Given the description of an element on the screen output the (x, y) to click on. 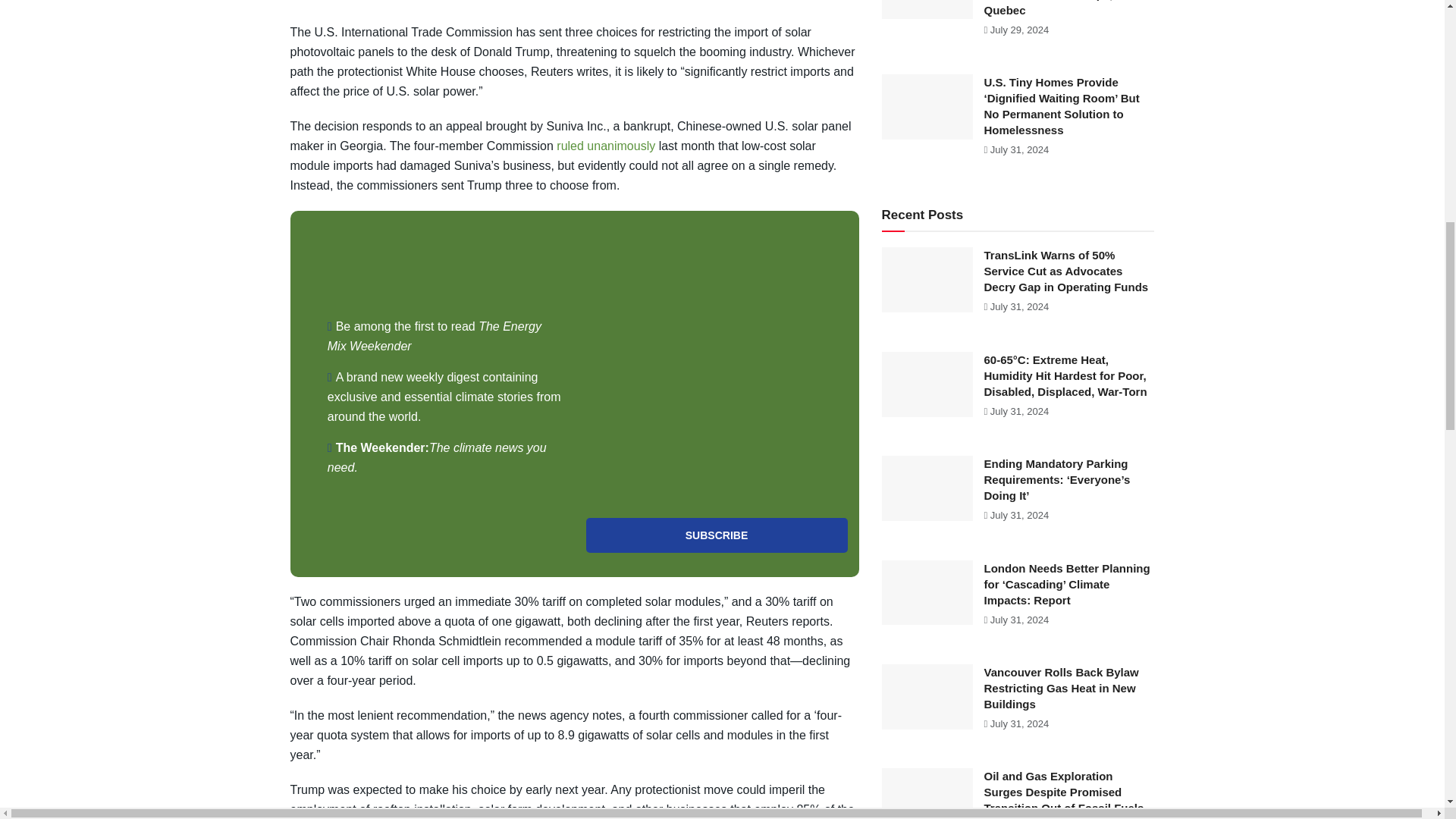
The Energy Mix Weekender (434, 336)
Subscribe (716, 534)
TEM-WeekenderLight (716, 364)
ruled unanimously (605, 145)
